Given the description of an element on the screen output the (x, y) to click on. 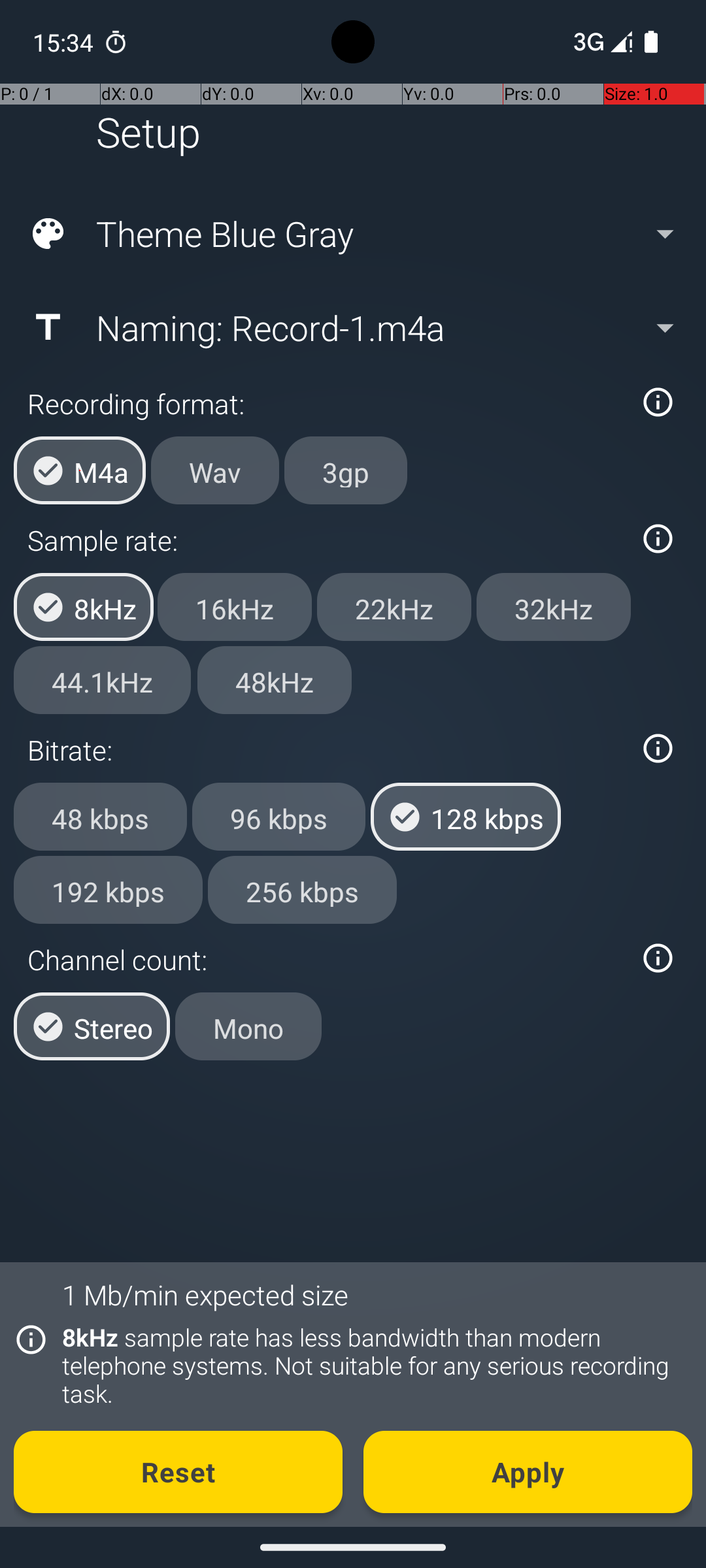
8kHz sample rate has less bandwidth than modern telephone systems. Not suitable for any serious recording task. Element type: android.widget.TextView (370, 1364)
